Given the description of an element on the screen output the (x, y) to click on. 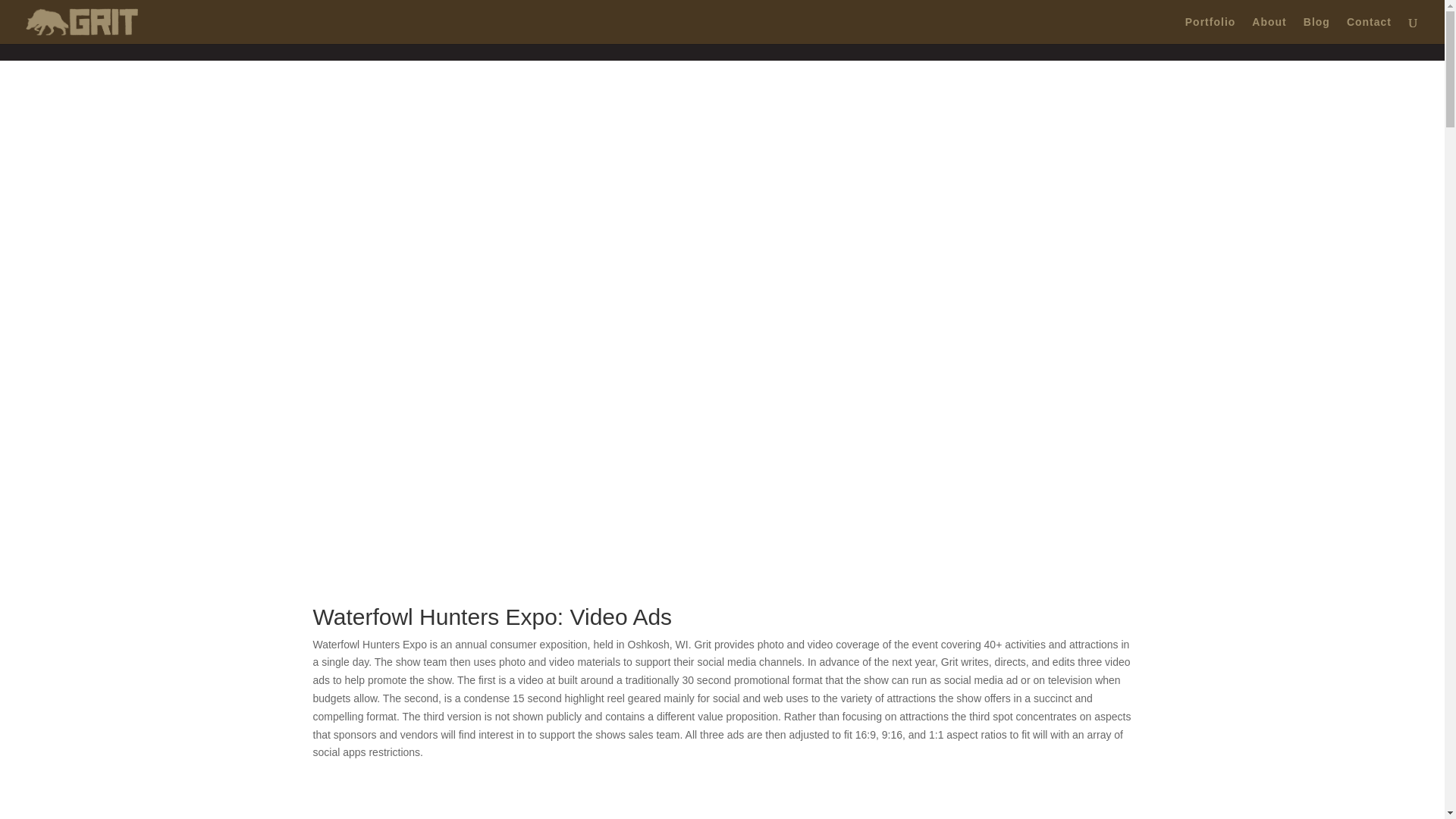
Portfolio (1210, 30)
Blog (1316, 30)
Waterfowl Hunters Expo: 30 second Promo 1:1 (505, 811)
Contact (1368, 30)
Waterfowl Hunters Expo: 30 second Promo 9:16 (937, 811)
About (1268, 30)
